Given the description of an element on the screen output the (x, y) to click on. 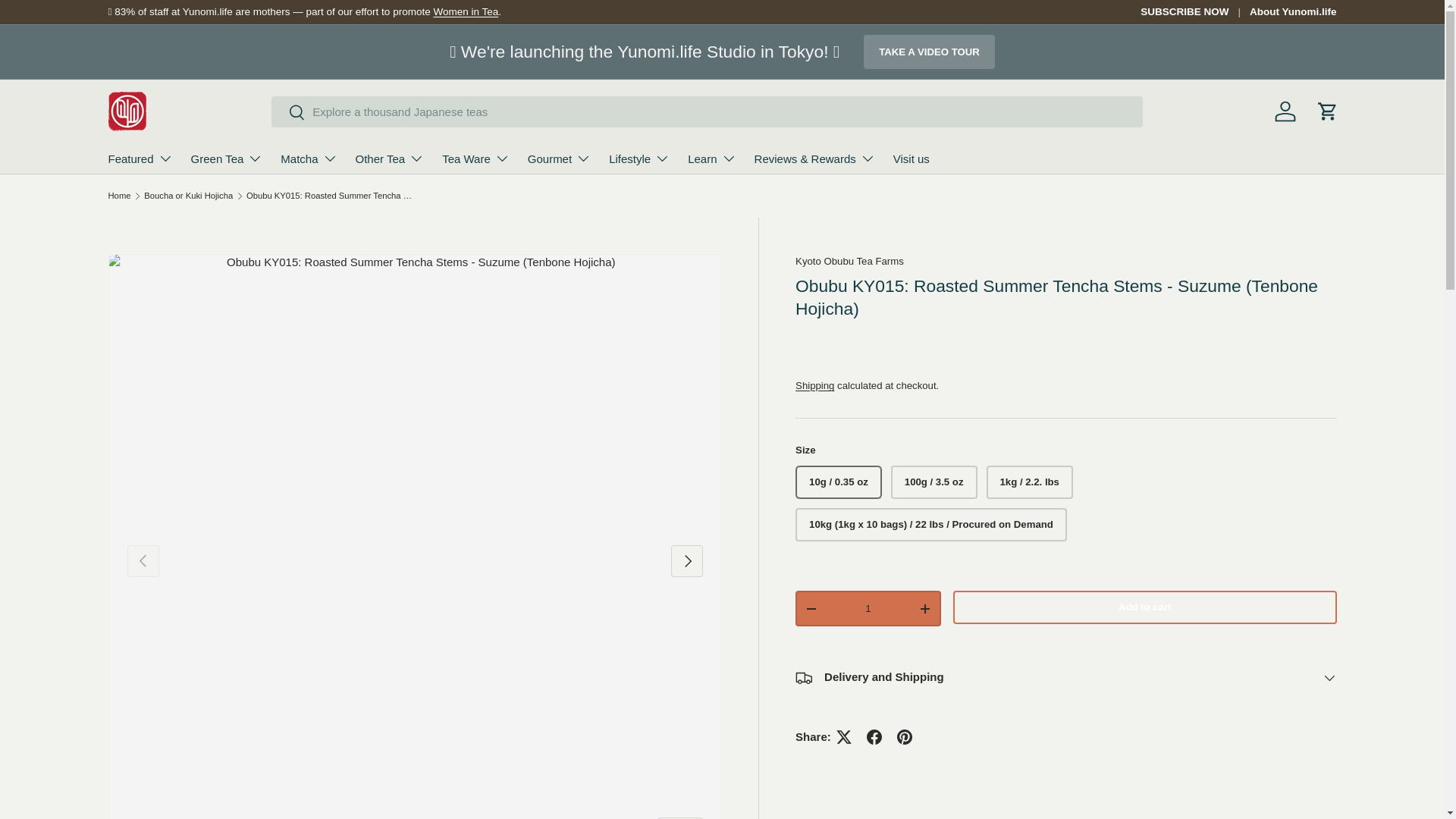
Search (287, 113)
Tweet on X (843, 736)
Featured (139, 158)
SKIP TO CONTENT (63, 23)
SUBSCRIBE NOW (1194, 11)
About Yunomi.life (1292, 11)
Women in Tea (464, 11)
Log in (1284, 111)
1 (868, 608)
Cart (1326, 111)
